Given the description of an element on the screen output the (x, y) to click on. 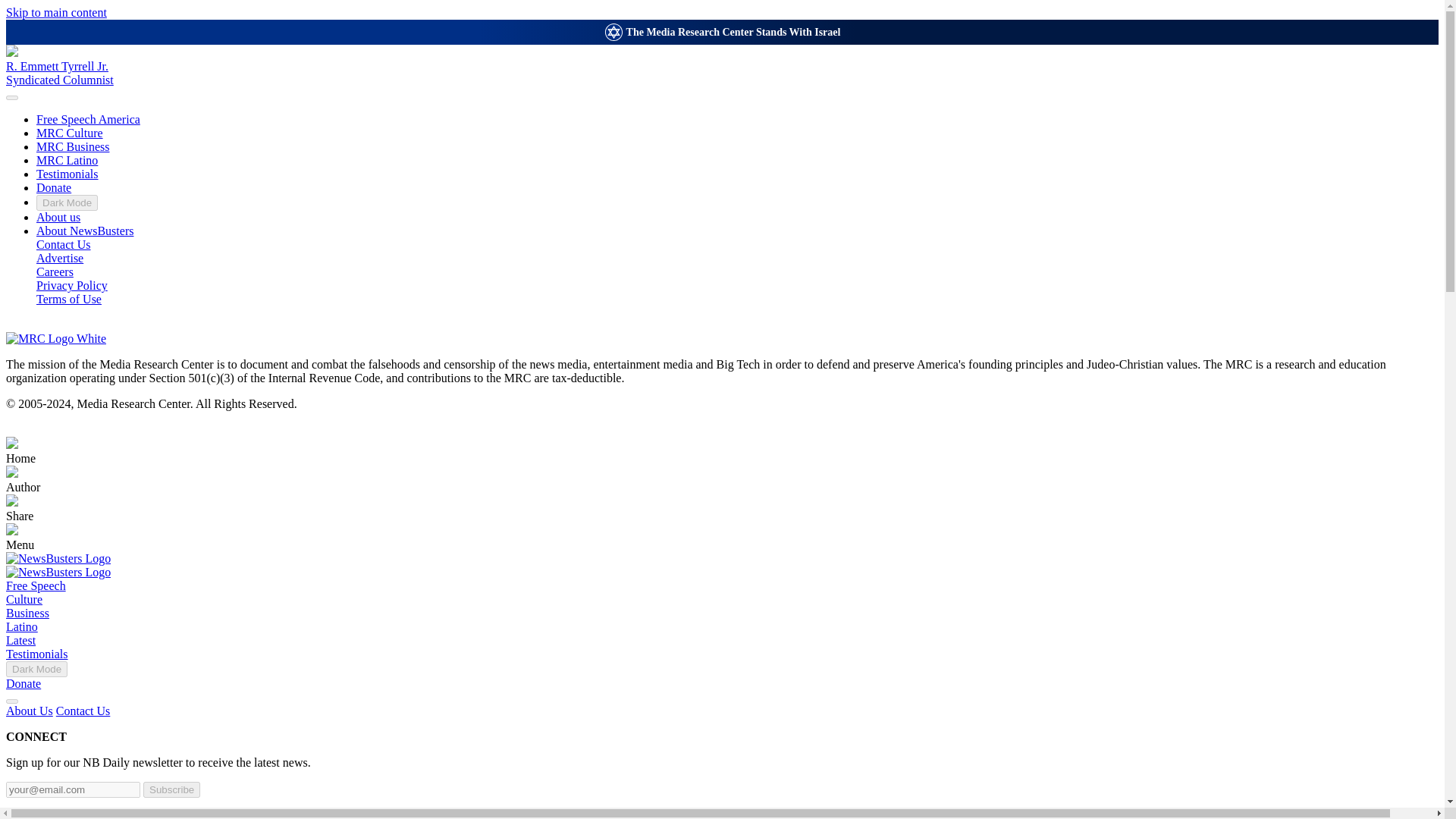
Dark Mode (66, 202)
Testimonials (36, 653)
Donate (22, 683)
Skip to main content (55, 11)
